Given the description of an element on the screen output the (x, y) to click on. 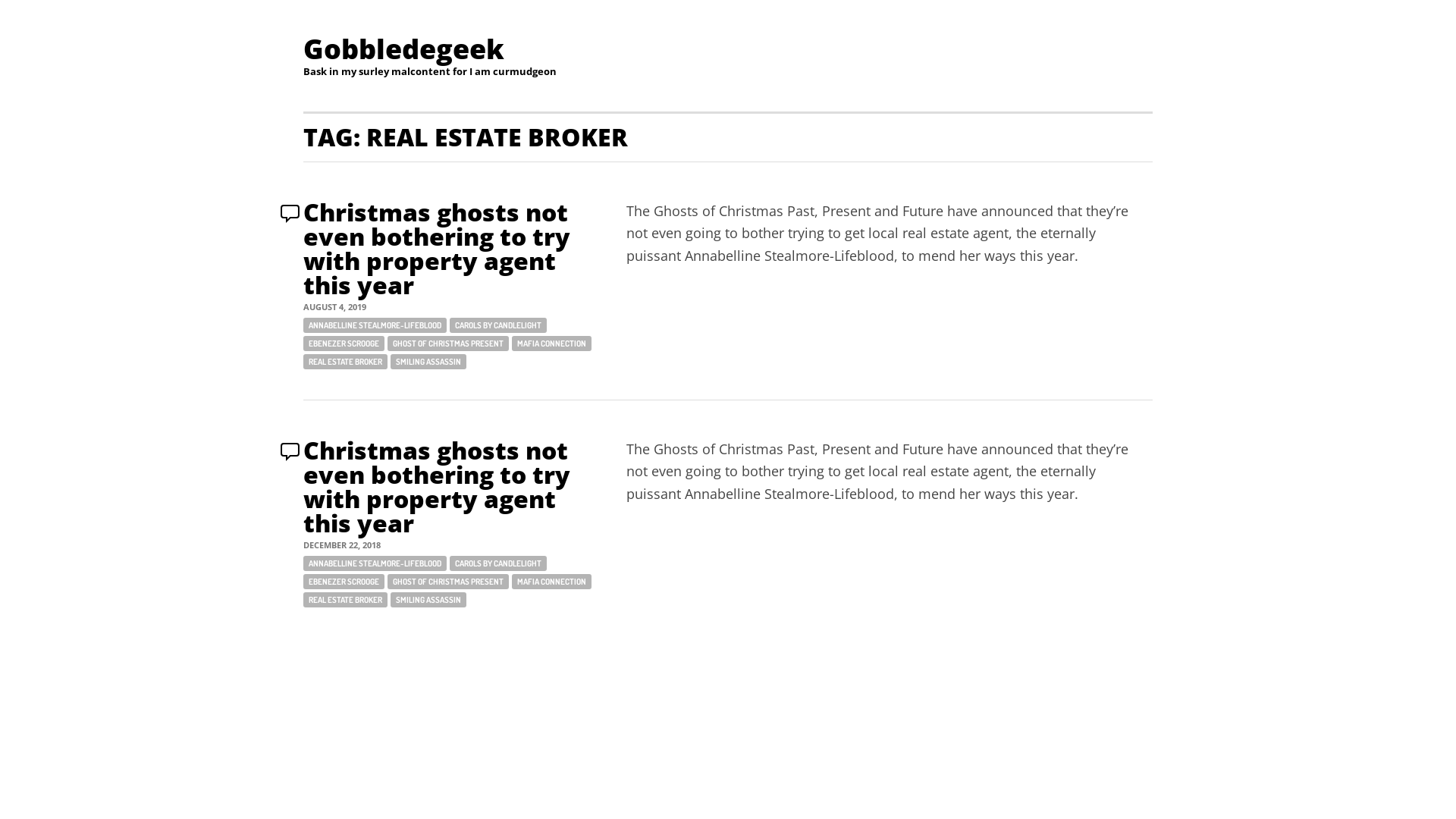
REAL ESTATE BROKER Element type: text (345, 599)
MAFIA CONNECTION Element type: text (551, 343)
MAFIA CONNECTION Element type: text (551, 581)
GHOST OF CHRISTMAS PRESENT Element type: text (447, 343)
EBENEZER SCROOGE Element type: text (343, 343)
GHOST OF CHRISTMAS PRESENT Element type: text (447, 581)
SMILING ASSASSIN Element type: text (428, 599)
CAROLS BY CANDLELIGHT Element type: text (497, 563)
REAL ESTATE BROKER Element type: text (345, 361)
AUGUST 4, 2019 Element type: text (334, 306)
ANNABELLINE STEALMORE-LIFEBLOOD Element type: text (374, 324)
CAROLS BY CANDLELIGHT Element type: text (497, 324)
DECEMBER 22, 2018 Element type: text (341, 544)
SMILING ASSASSIN Element type: text (428, 361)
EBENEZER SCROOGE Element type: text (343, 581)
ANNABELLINE STEALMORE-LIFEBLOOD Element type: text (374, 563)
